Given the description of an element on the screen output the (x, y) to click on. 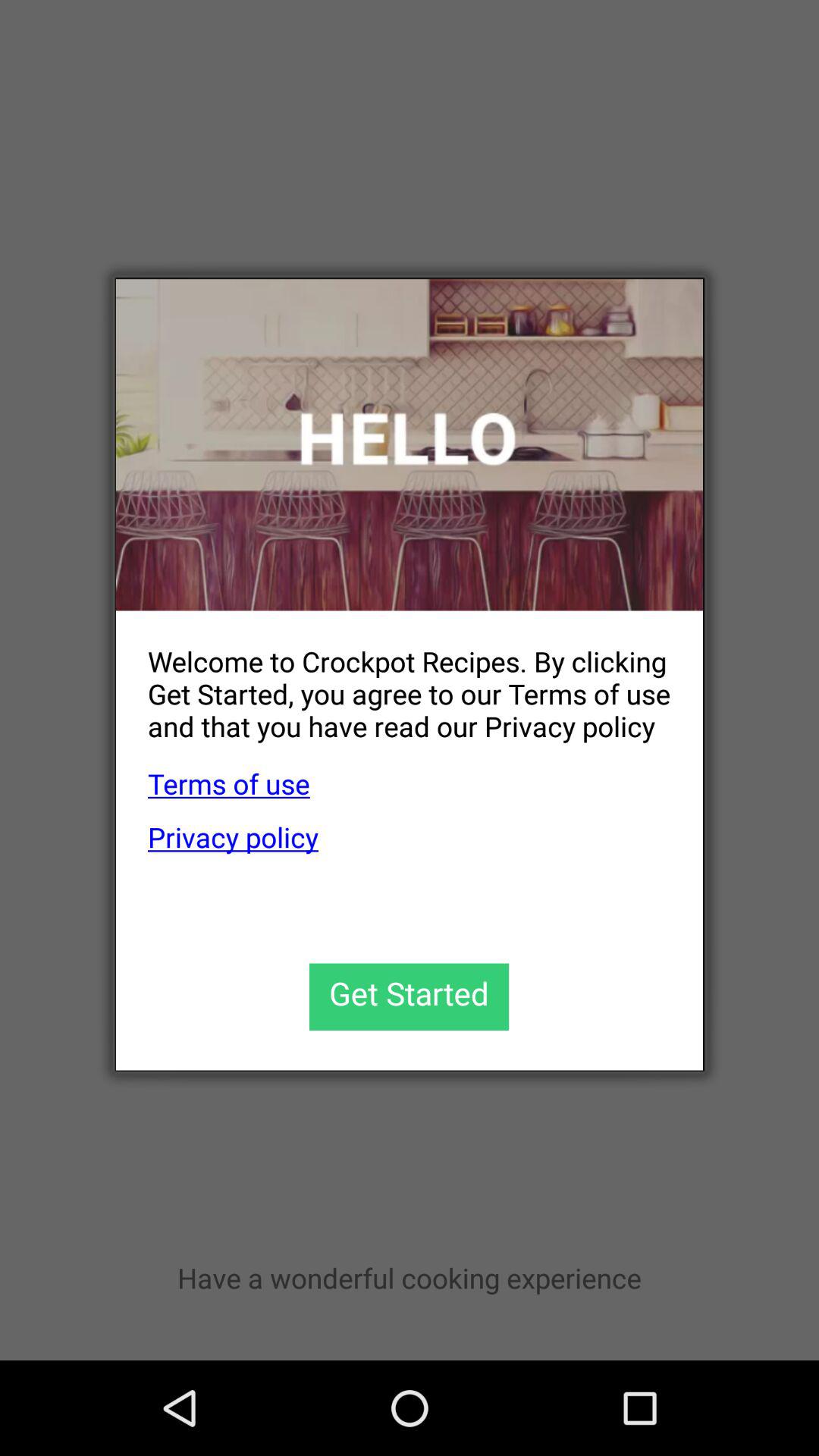
launch the app above welcome to crockpot item (409, 444)
